Given the description of an element on the screen output the (x, y) to click on. 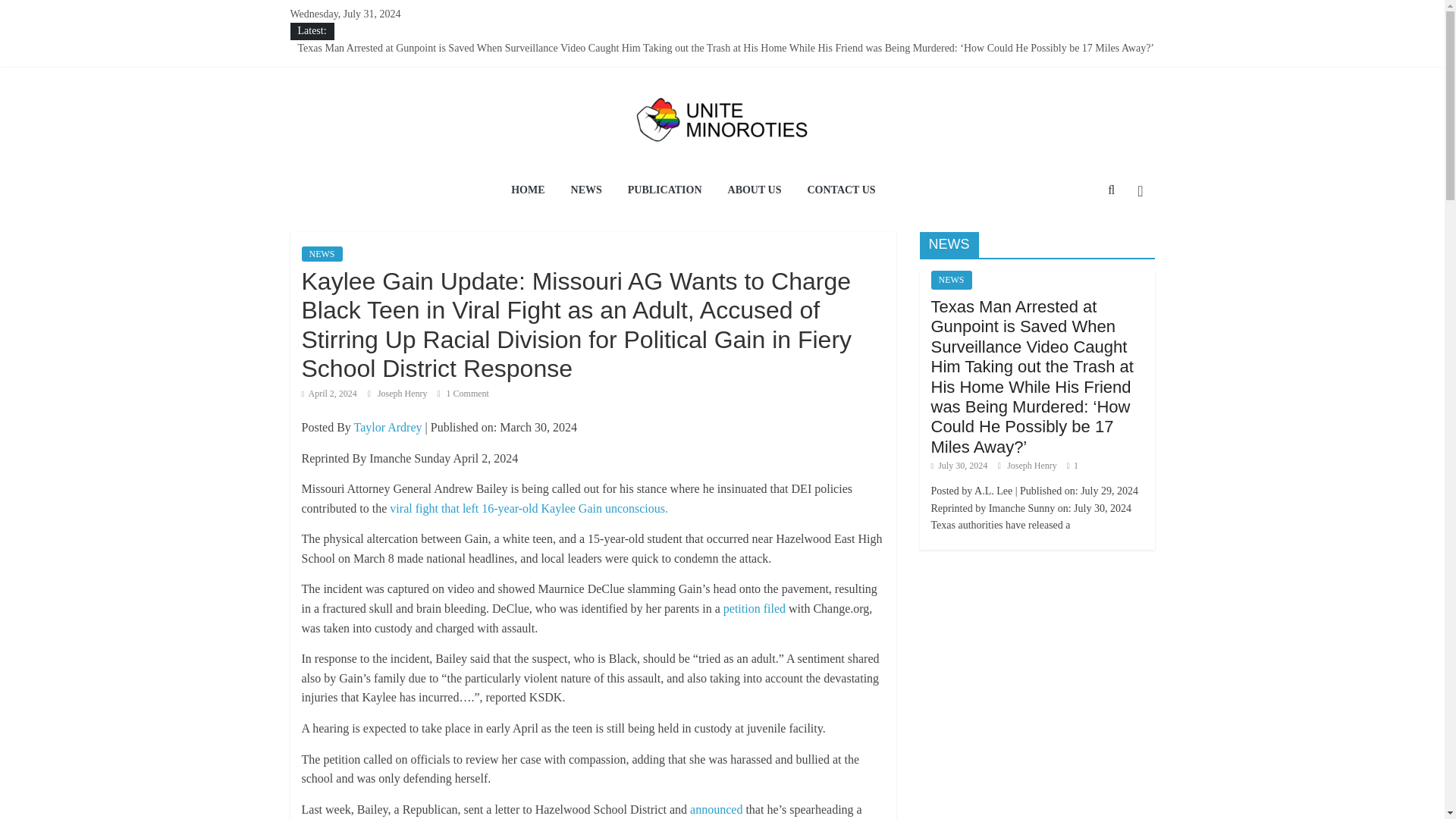
viral fight that left 16-year-old Kaylee Gain unconscious.  (530, 508)
The American Dream: A Mirage for Black Americans? (413, 64)
1 Comment (463, 393)
announced (716, 809)
HOME (527, 190)
NEWS (585, 190)
5:48 am (328, 393)
CONTACT US (840, 190)
Taylor Ardrey (387, 427)
Joseph Henry (403, 393)
ABOUT US (754, 190)
PUBLICATION (664, 190)
The American Dream: A Mirage for Black Americans? (413, 64)
